Given the description of an element on the screen output the (x, y) to click on. 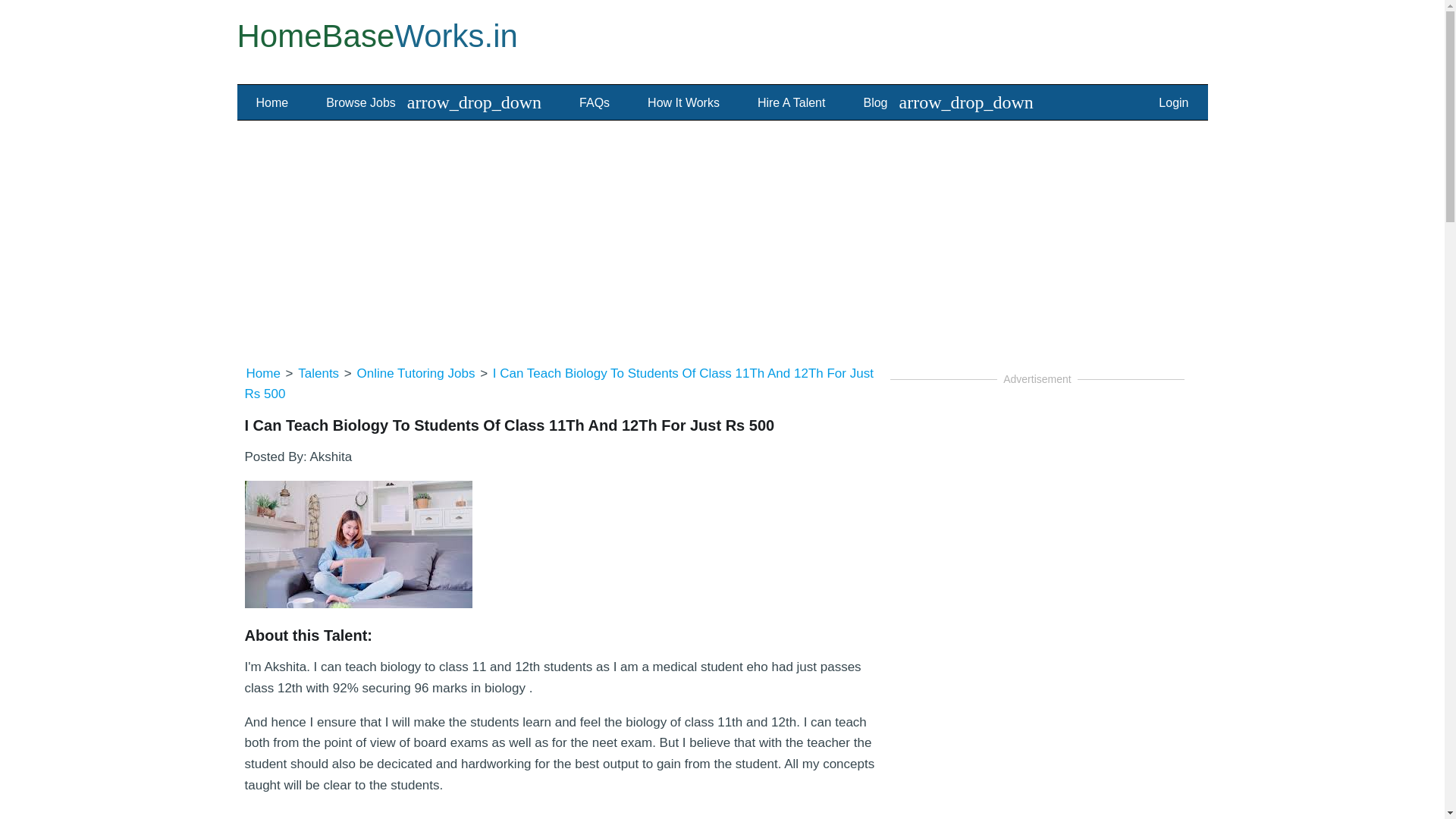
HomeBaseWorks.in (375, 36)
Advertisement (1037, 723)
How It Works (683, 103)
Home (272, 103)
Login (1173, 103)
Hire A Talent (790, 103)
FAQs (594, 103)
